Given the description of an element on the screen output the (x, y) to click on. 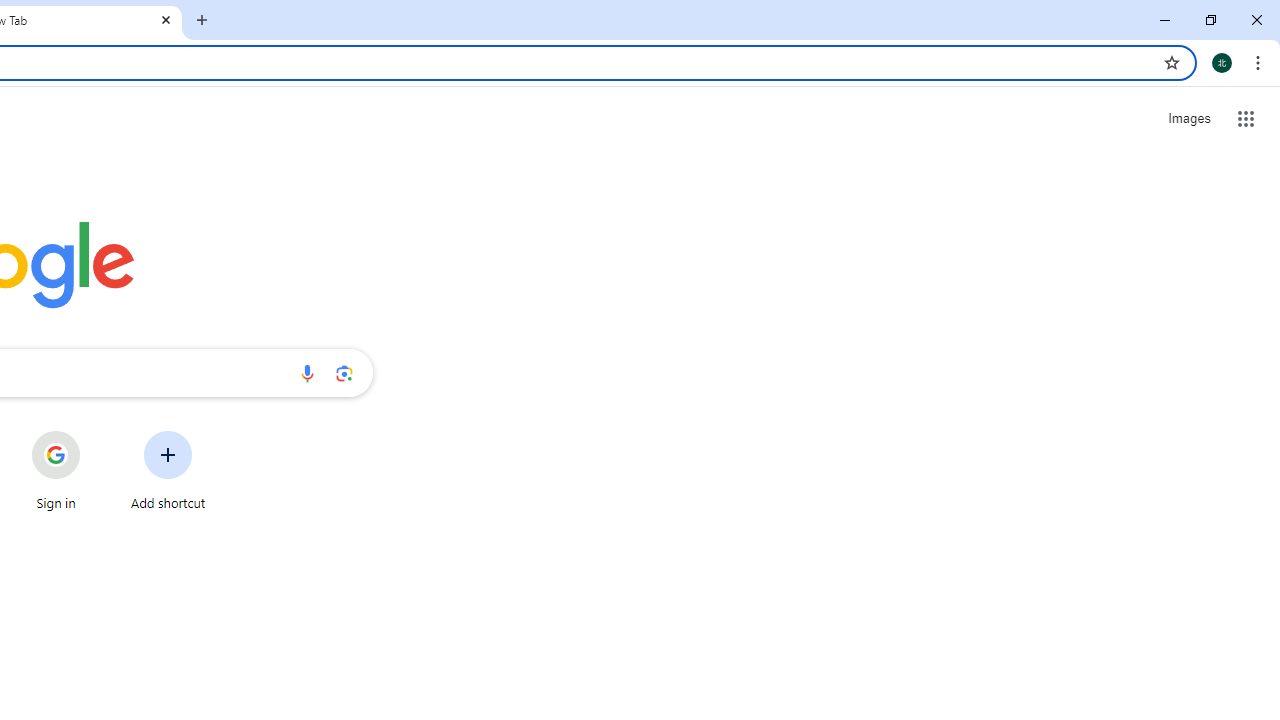
More actions for Sign in shortcut (95, 433)
Add shortcut (168, 470)
